Given the description of an element on the screen output the (x, y) to click on. 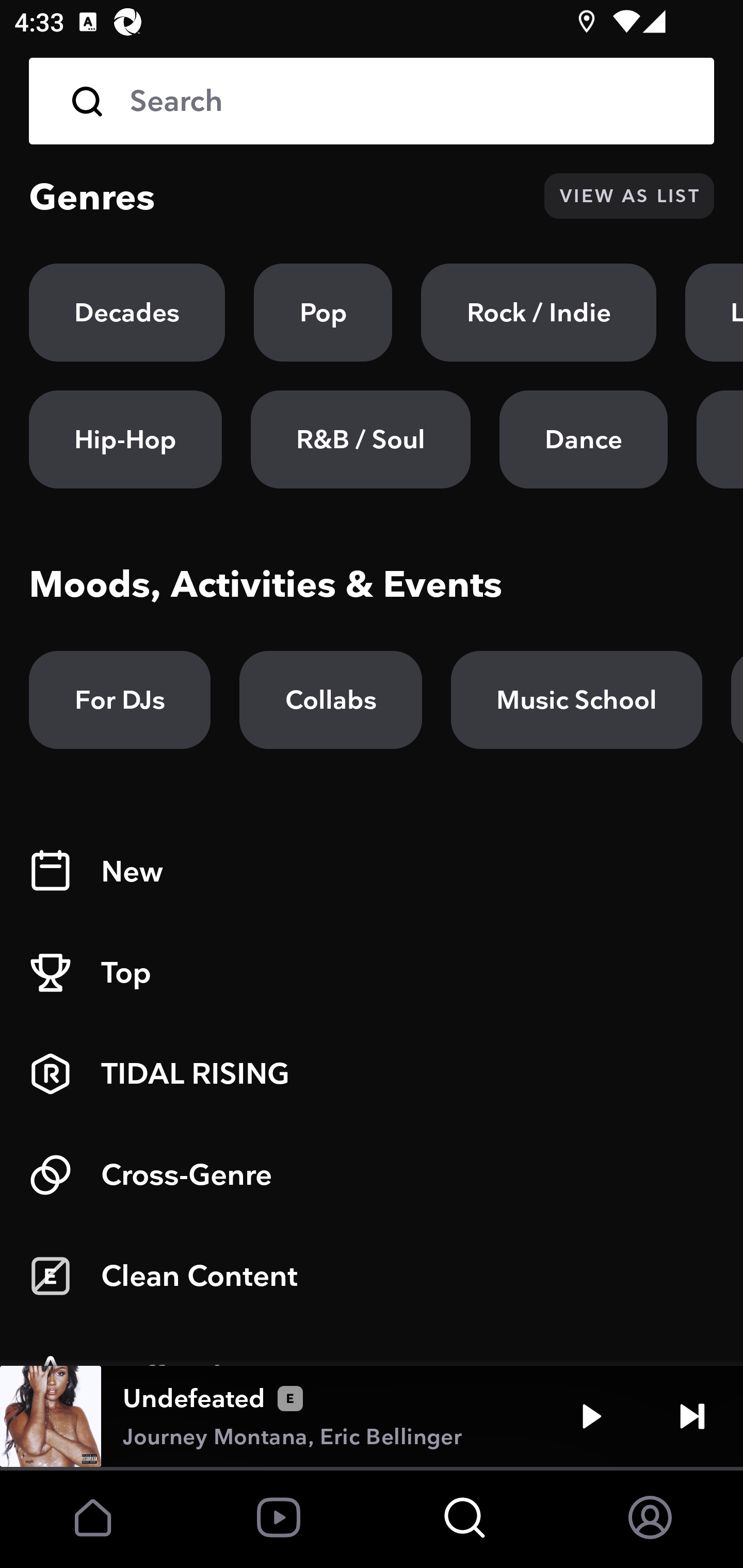
Search (371, 101)
Search (407, 100)
VIEW AS LIST (629, 195)
Decades (126, 312)
Pop (323, 312)
Rock / Indie (538, 312)
Hip-Hop (125, 439)
R&B / Soul (360, 439)
Dance (583, 439)
For DJs (119, 699)
Collabs (330, 699)
Music School (576, 699)
New (371, 871)
Top (371, 972)
TIDAL RISING (371, 1073)
Cross-Genre (371, 1175)
Clean Content (371, 1276)
Undefeated    Journey Montana, Eric Bellinger Play (371, 1416)
Play (590, 1416)
